Given the description of an element on the screen output the (x, y) to click on. 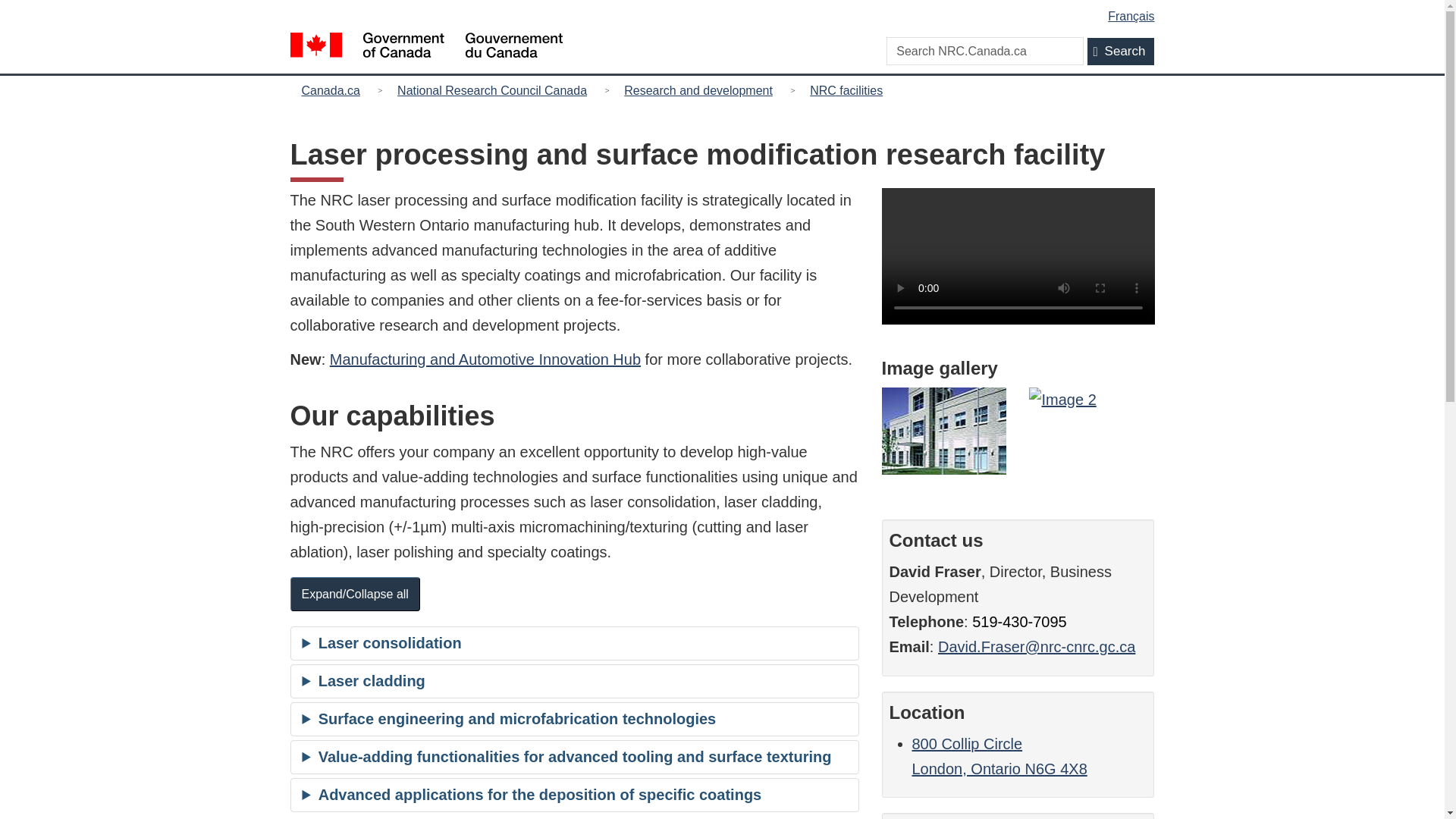
NRC facilities (845, 90)
Research and development (697, 90)
Manufacturing and Automotive Innovation Hub (998, 756)
Laser wire deposition process in the High Bay (485, 359)
Canada.ca (1091, 399)
National Research Council Canada (334, 90)
London research facilities (492, 90)
519-430-7095 (943, 431)
Skip to main content (1019, 621)
